Given the description of an element on the screen output the (x, y) to click on. 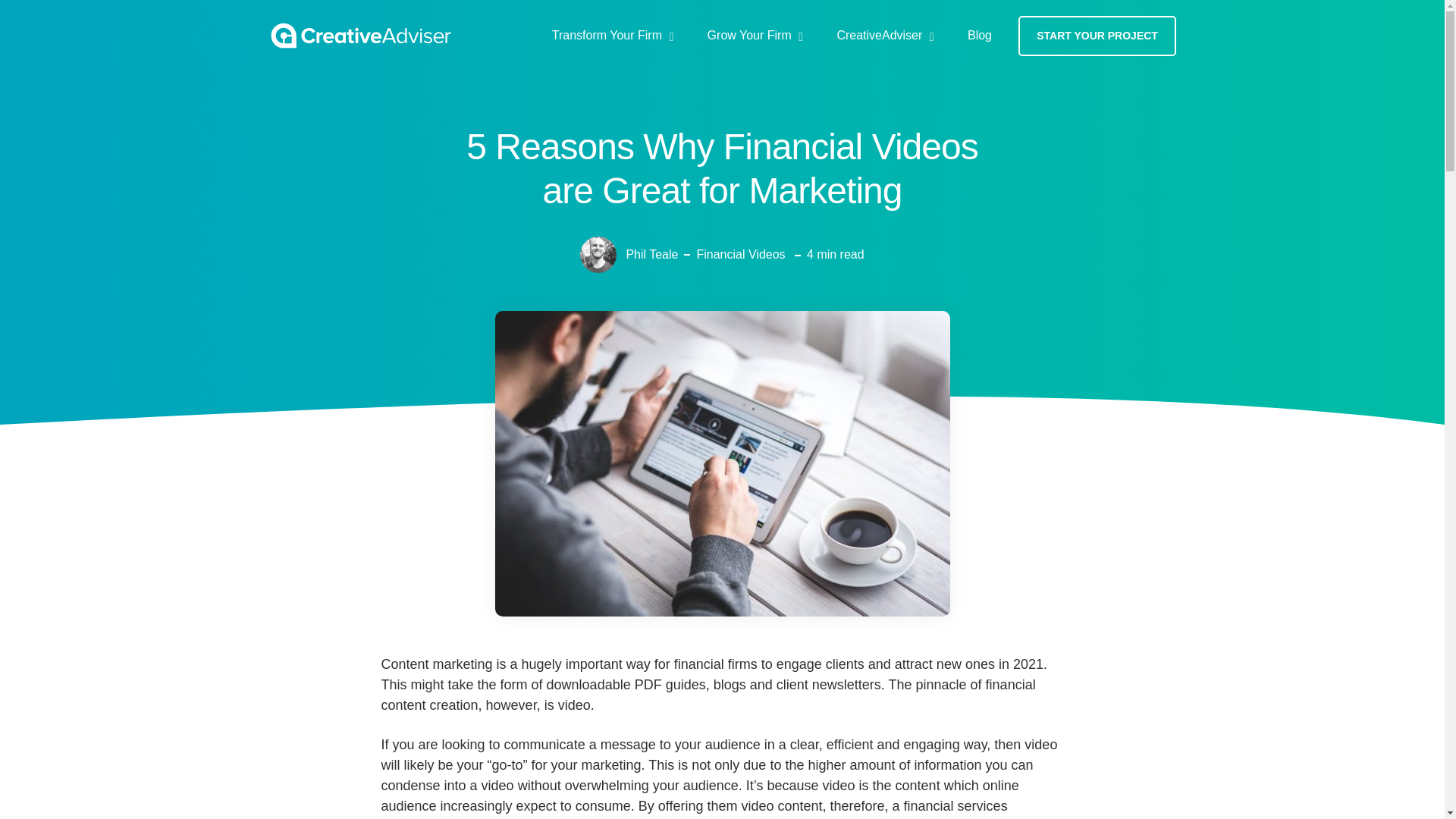
Grow Your Firm (759, 35)
Blog (978, 35)
CreativeAdviser (889, 35)
START YOUR PROJECT (1096, 35)
Transform Your Firm (616, 35)
